Given the description of an element on the screen output the (x, y) to click on. 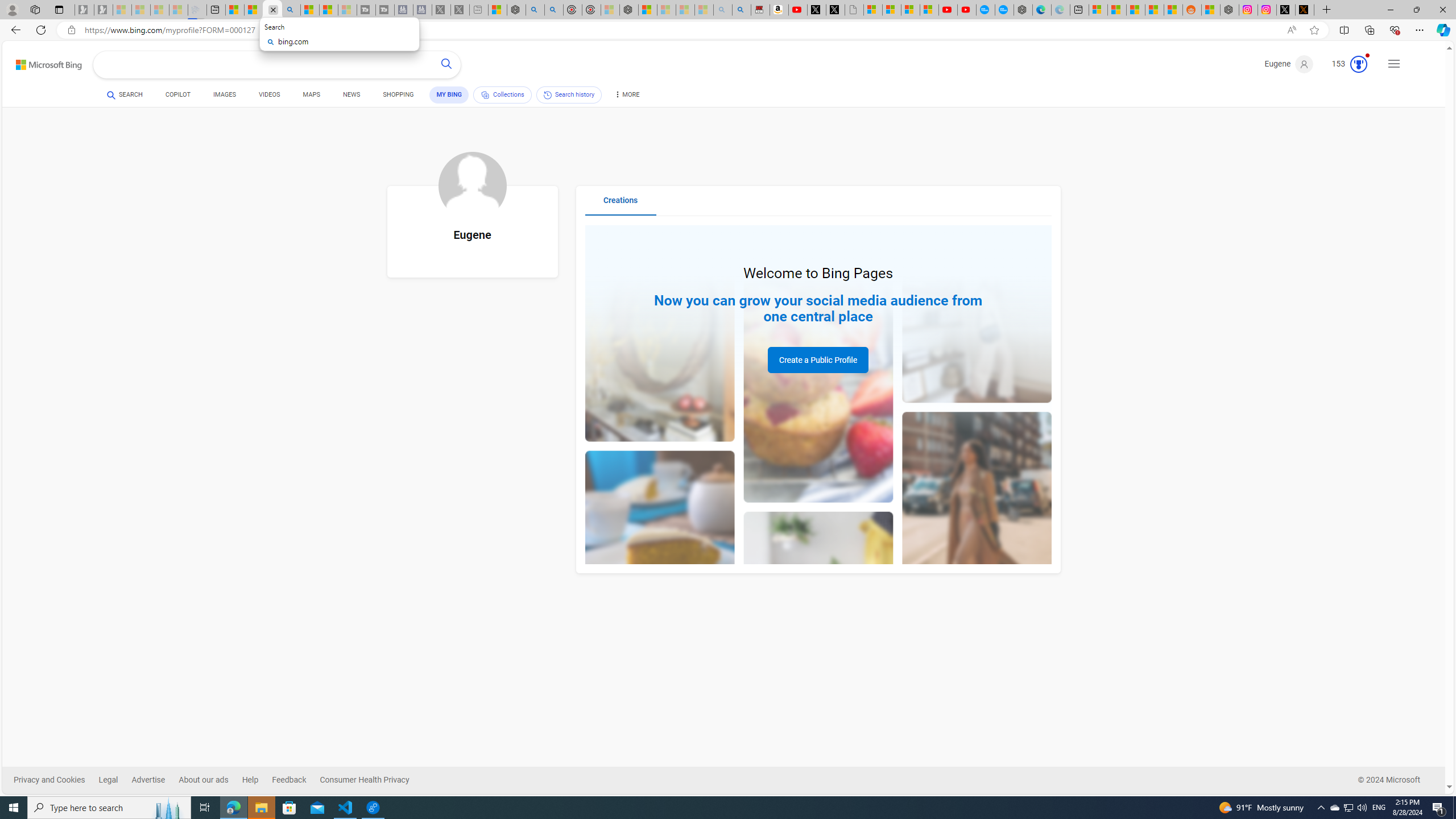
Back to Bing search (41, 61)
About our ads (203, 779)
Log in to X / X (1285, 9)
Legal (115, 780)
Eugene (1288, 63)
Search button (446, 64)
COPILOT (178, 96)
help.x.com | 524: A timeout occurred (1304, 9)
SHOPPING (397, 96)
MY BING (448, 94)
